Given the description of an element on the screen output the (x, y) to click on. 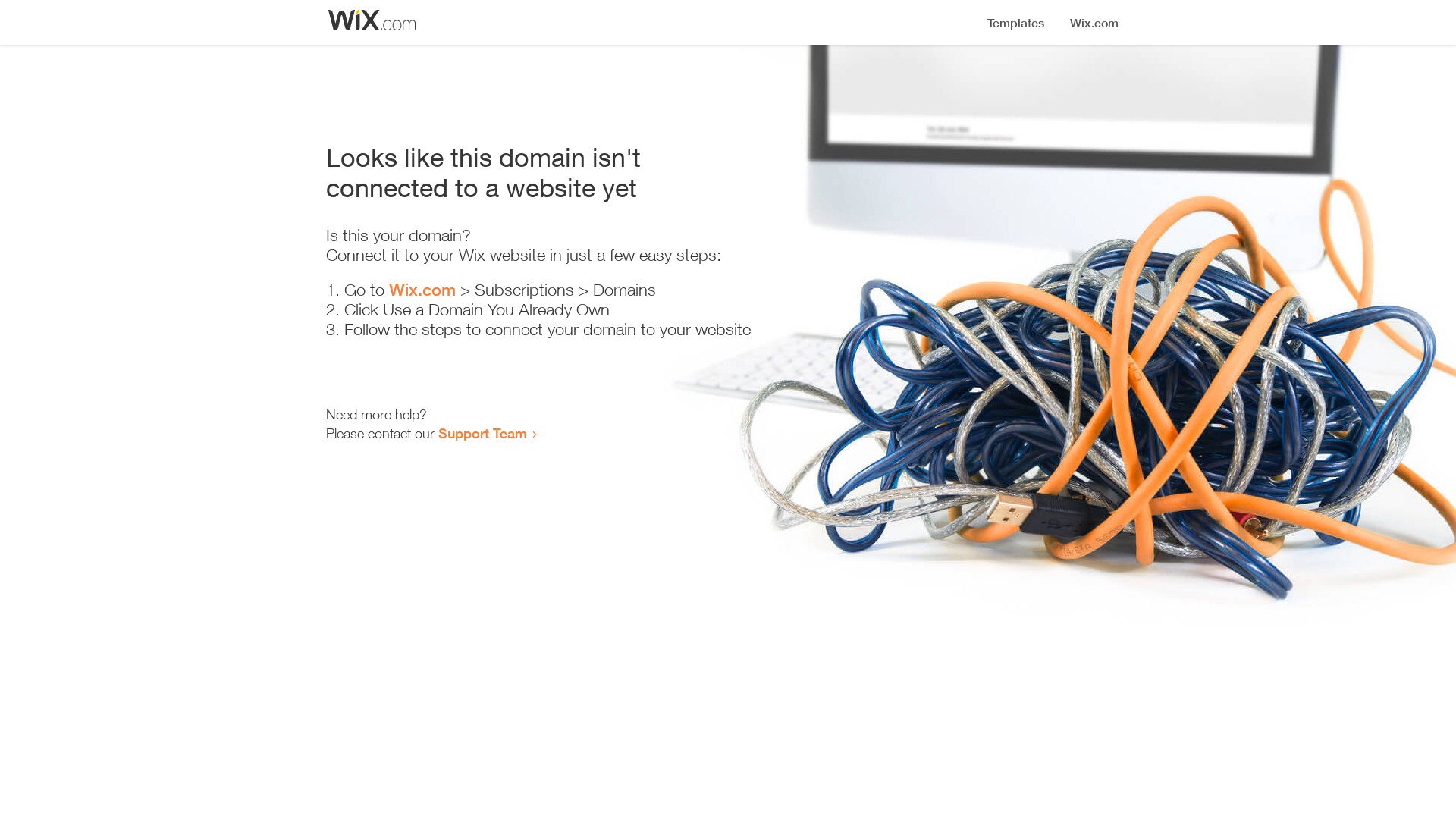
Support Team Element type: text (482, 432)
Wix.com Element type: text (422, 289)
